Given the description of an element on the screen output the (x, y) to click on. 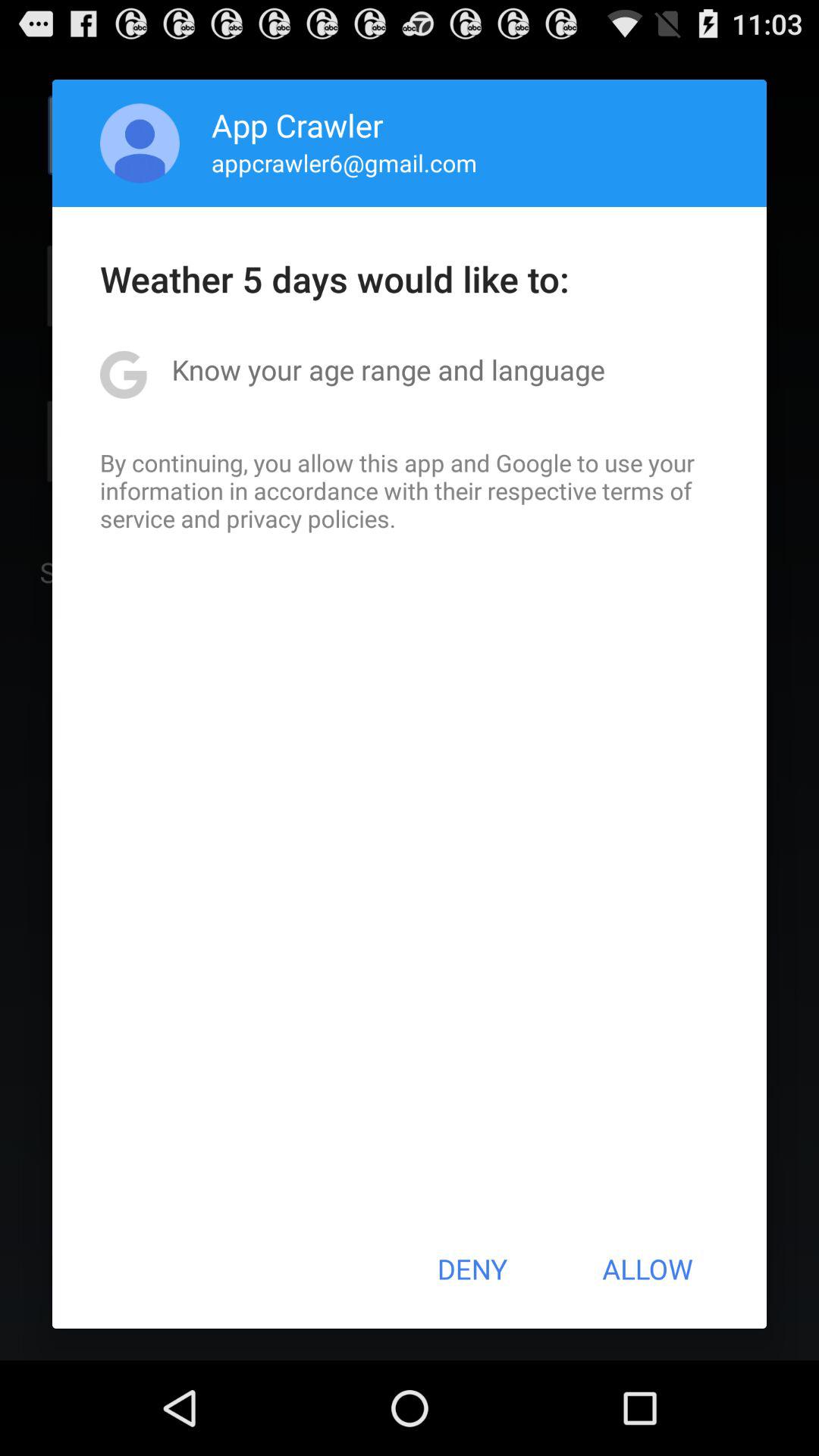
open the icon above the by continuing you item (388, 369)
